Given the description of an element on the screen output the (x, y) to click on. 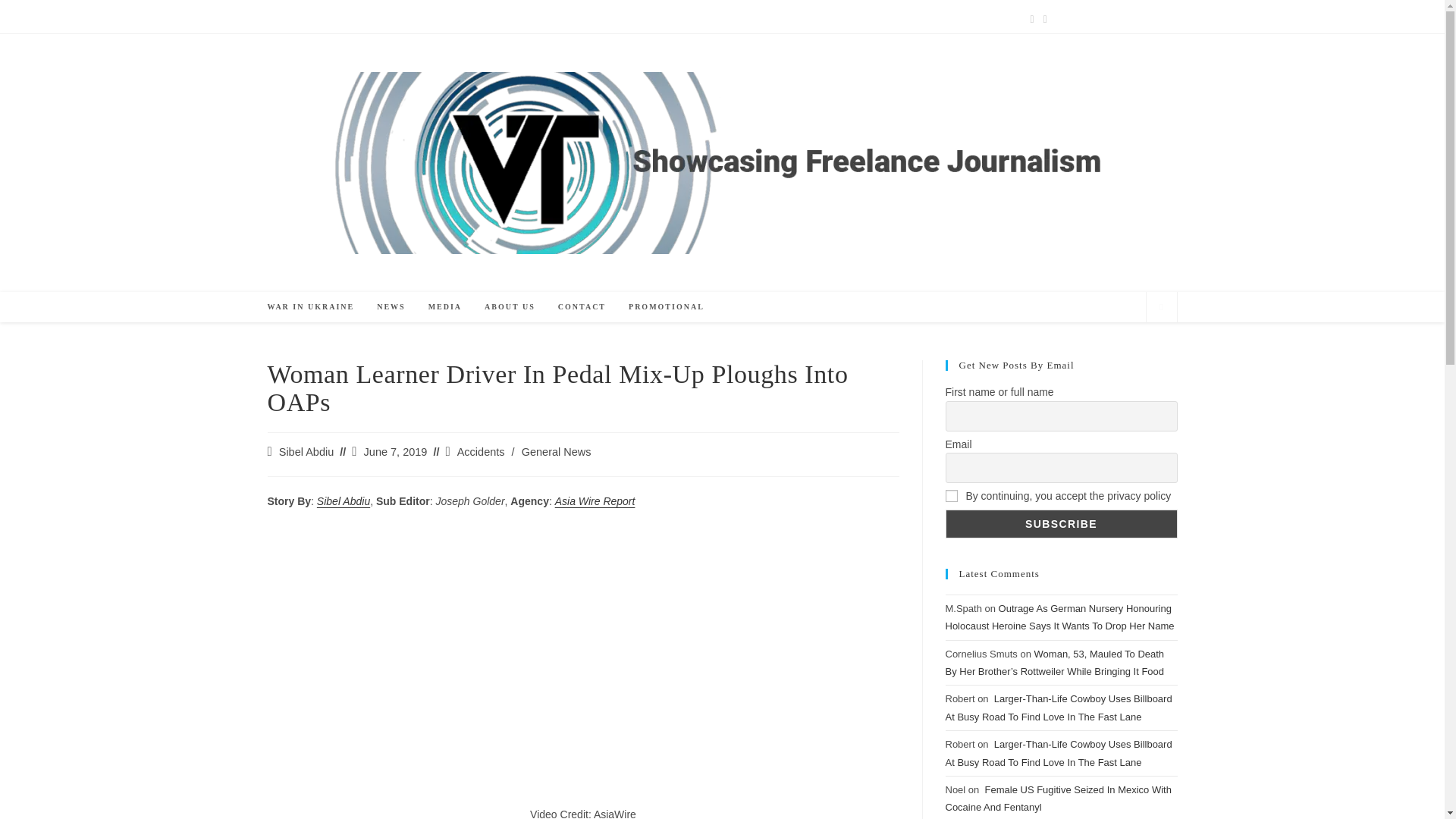
ABOUT US (510, 306)
on (950, 495)
PROMOTIONAL (666, 306)
Posts by Sibel Abdiu (306, 451)
Sibel Abdiu (306, 451)
NEWS (390, 306)
CONTACT (582, 306)
Subscribe (1060, 523)
WAR IN UKRAINE (311, 306)
MEDIA (444, 306)
ALL CATEGORIES (326, 18)
